Given the description of an element on the screen output the (x, y) to click on. 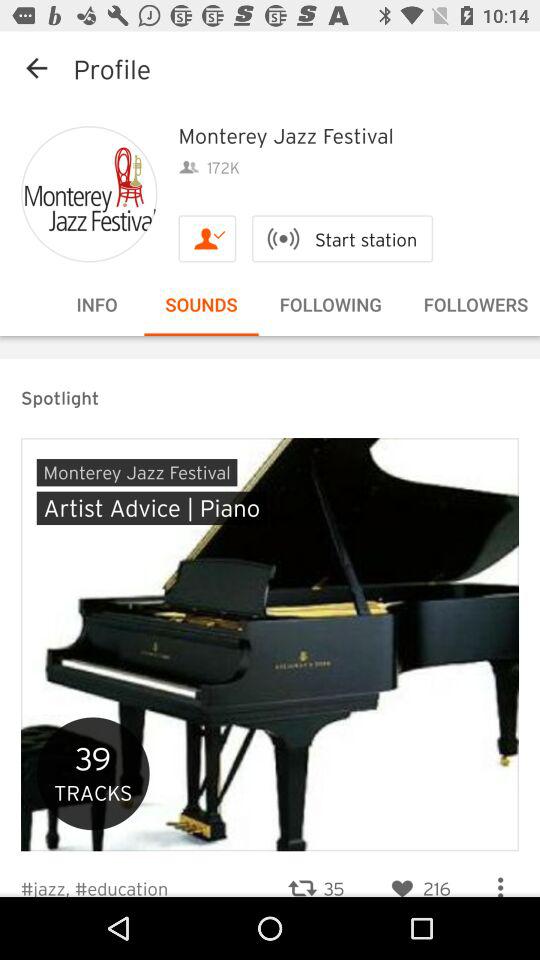
select the item to the left of the profile item (36, 68)
